Given the description of an element on the screen output the (x, y) to click on. 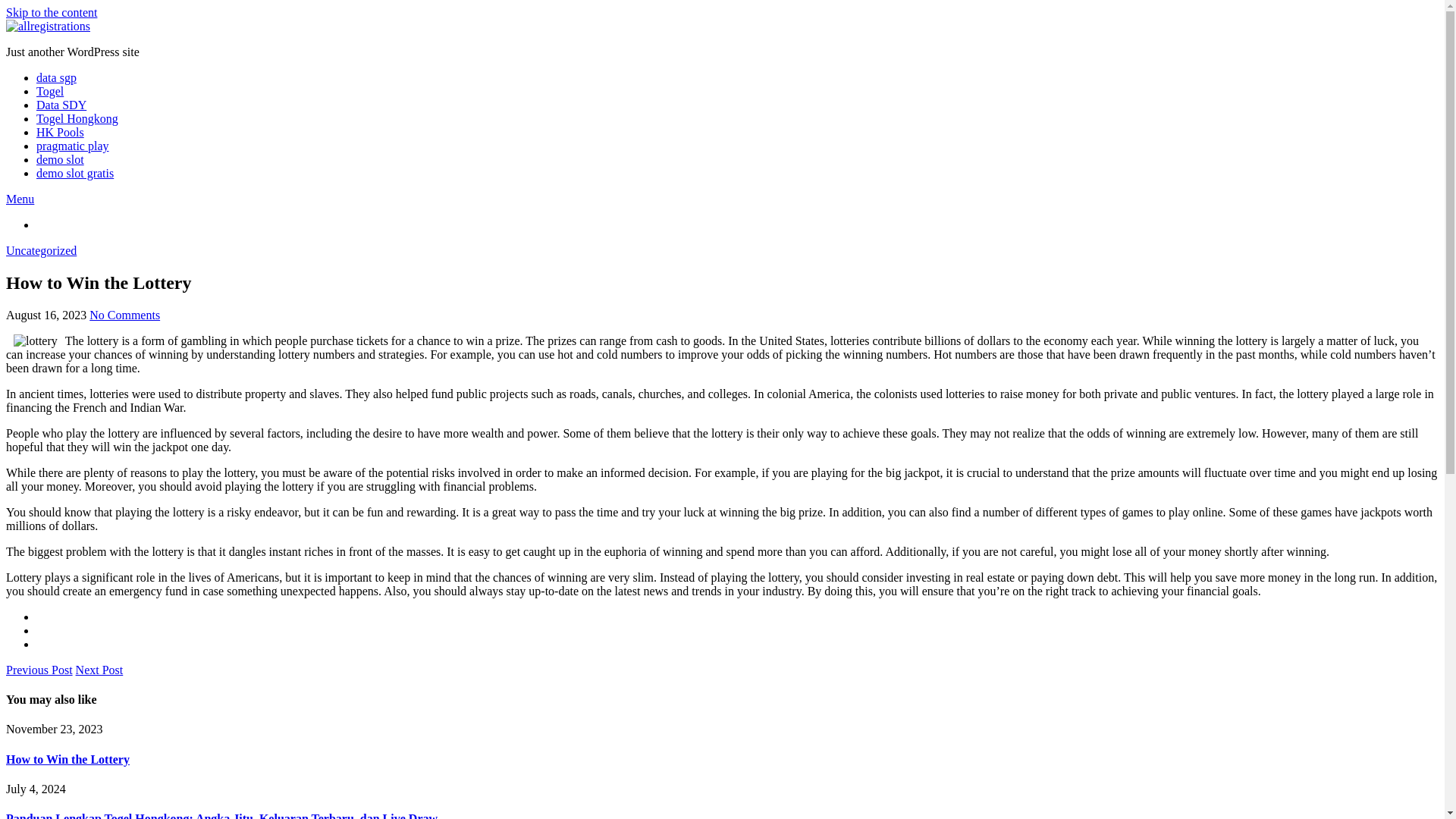
Skip to the content (51, 11)
Data SDY (60, 104)
Togel Hongkong (76, 118)
HK Pools (60, 132)
Previous Post (38, 669)
Togel (50, 91)
No Comments (124, 314)
demo slot (60, 159)
How to Win the Lottery (67, 758)
pragmatic play (72, 145)
Menu (19, 198)
demo slot gratis (74, 173)
data sgp (56, 77)
Uncategorized (41, 250)
Next Post (99, 669)
